Given the description of an element on the screen output the (x, y) to click on. 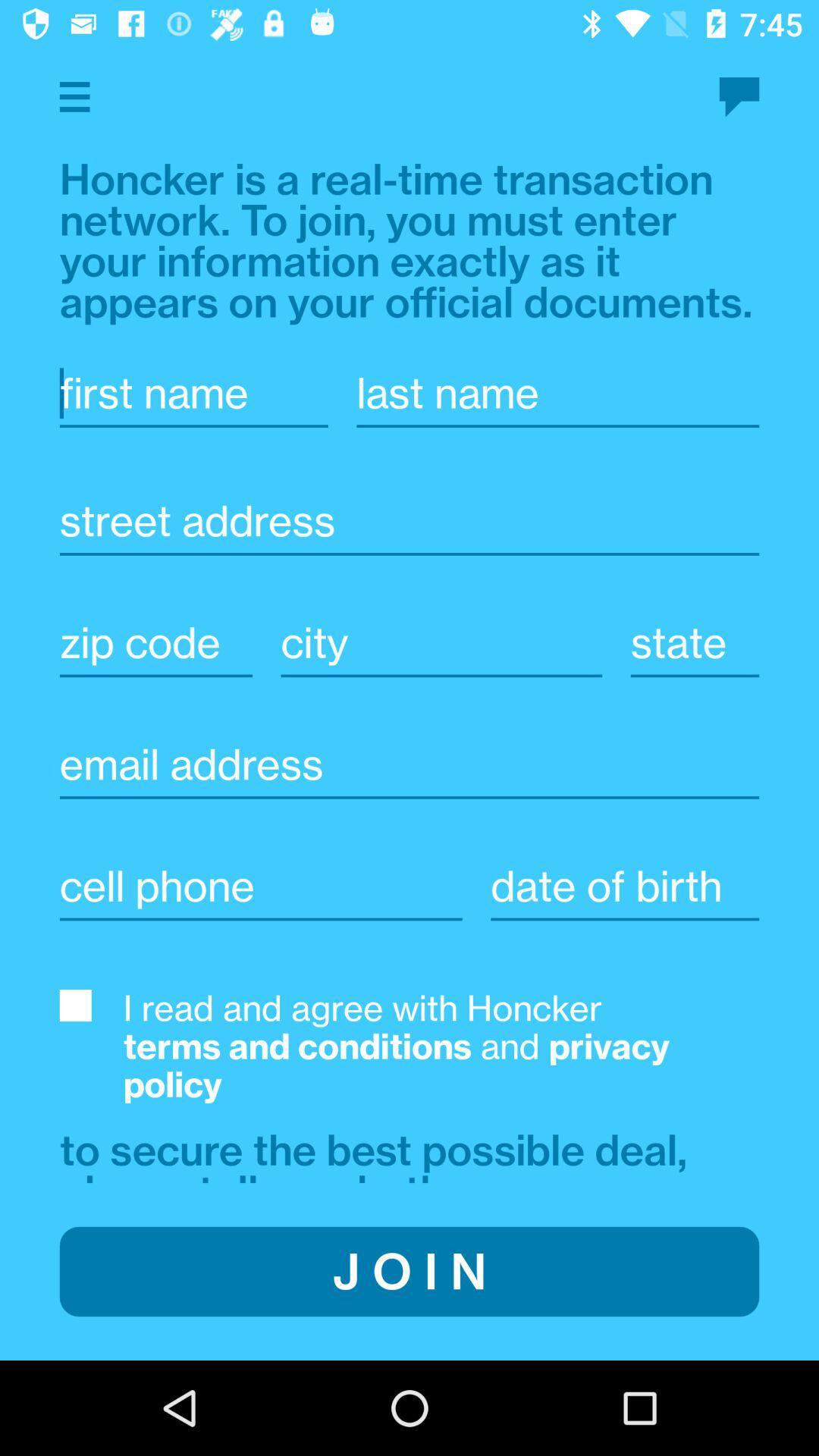
type in city (624, 886)
